Given the description of an element on the screen output the (x, y) to click on. 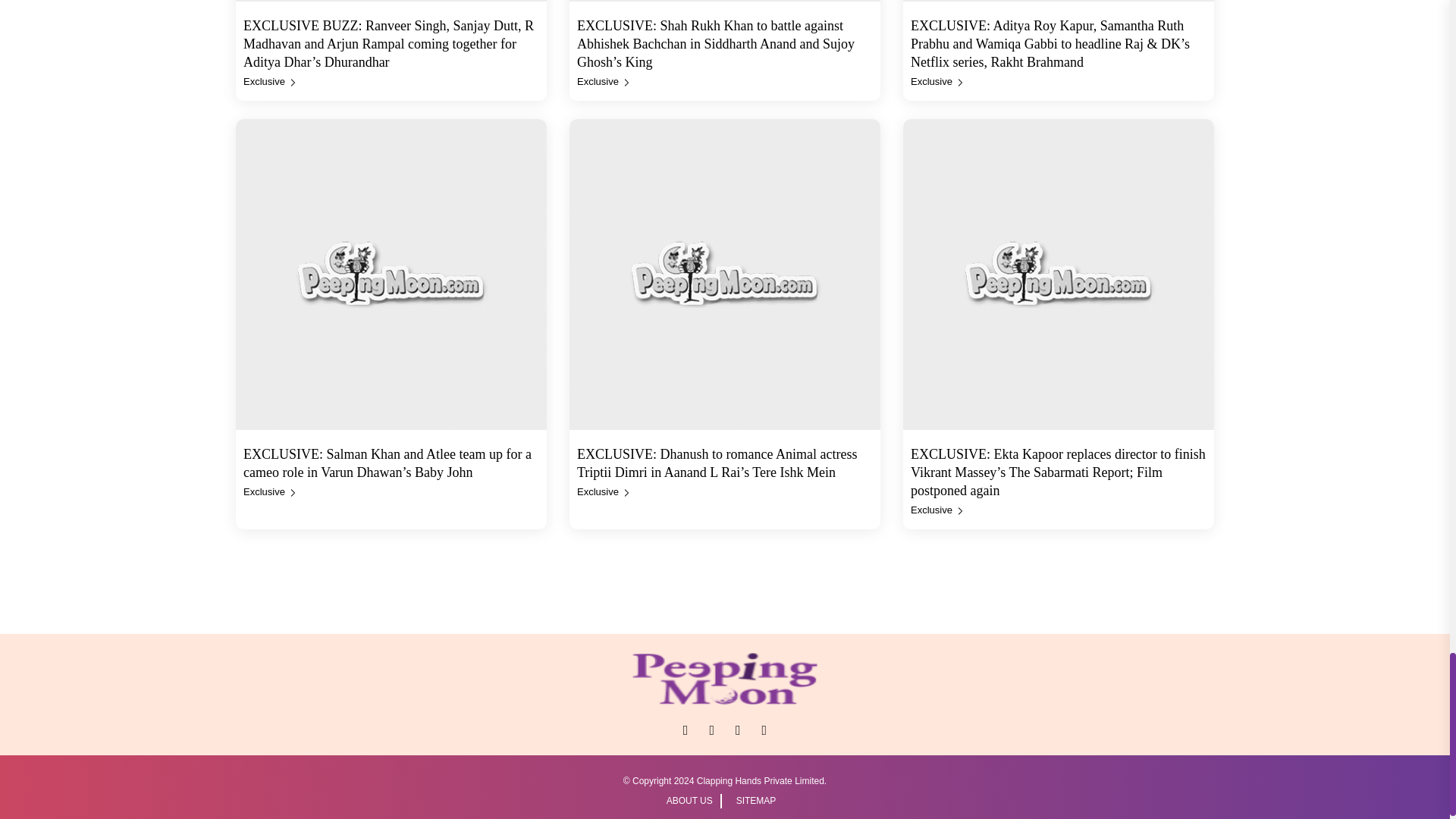
Peepingmoon English (724, 678)
